Given the description of an element on the screen output the (x, y) to click on. 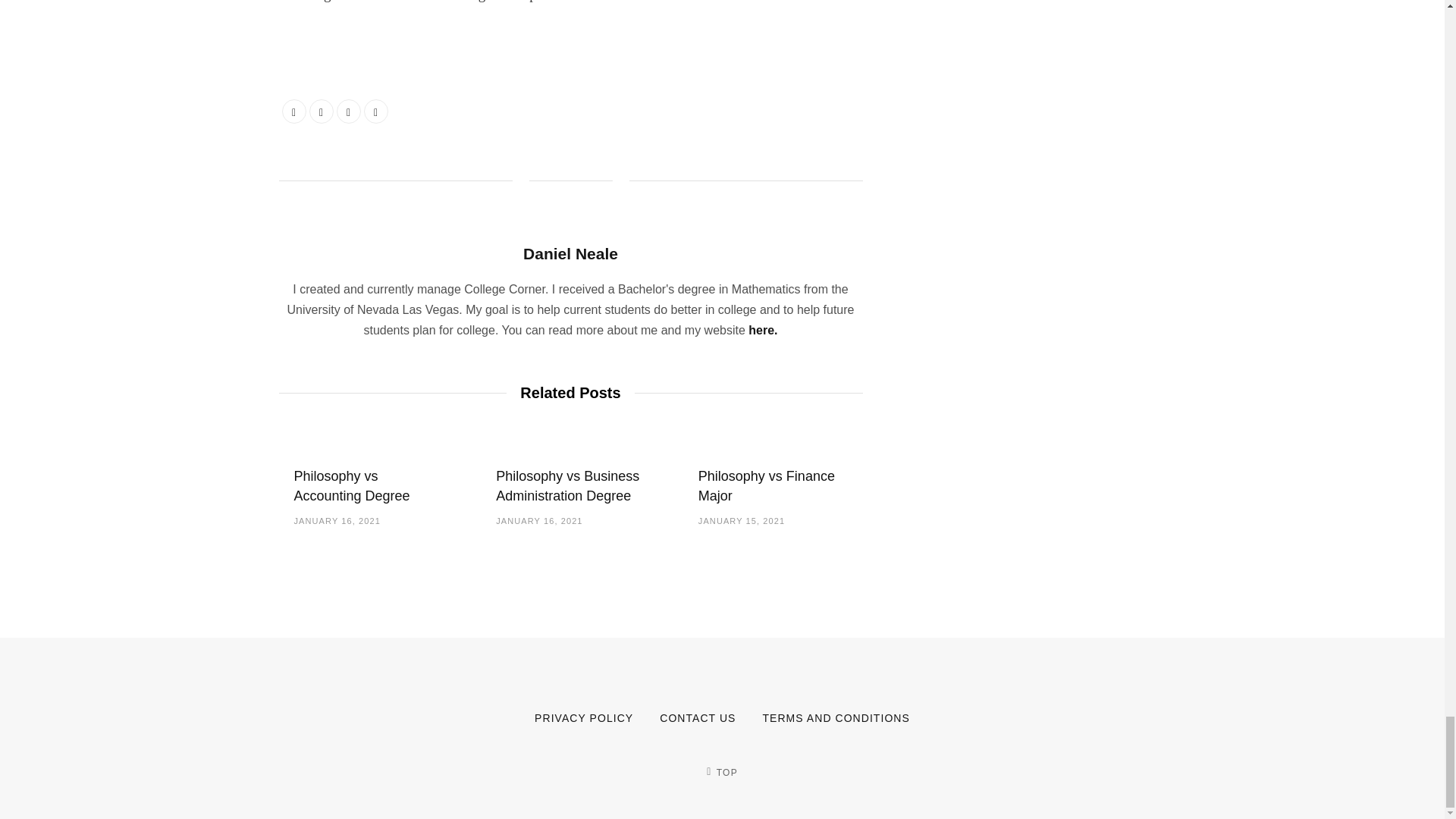
Share on Twitter (320, 111)
Daniel Neale (569, 253)
Philosophy vs Accounting Degree (352, 485)
here. (762, 329)
TOP (721, 772)
Philosophy vs Finance Major (766, 485)
Philosophy vs Business Administration Degree (567, 485)
Pinterest (376, 111)
Posts by Daniel Neale (569, 253)
TERMS AND CONDITIONS (834, 717)
